Given the description of an element on the screen output the (x, y) to click on. 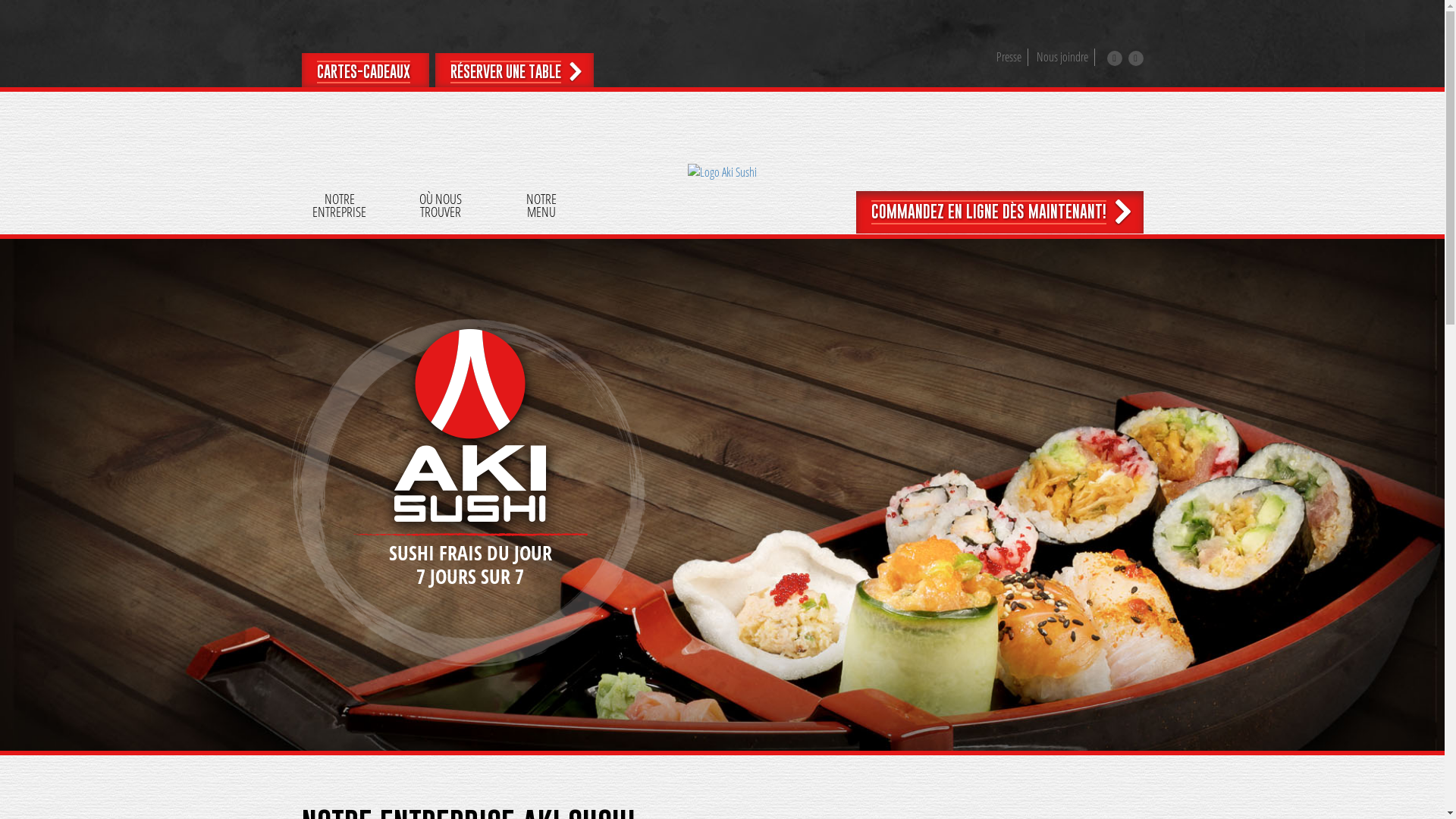
CARTES-CADEAUX Element type: text (365, 72)
APPLICATION AKIFAN Element type: text (1104, 208)
PRODUITS Element type: text (902, 208)
Presse Element type: text (1008, 56)
NOTRE ENTREPRISE Element type: text (338, 208)
Nous joindre Element type: text (1061, 56)
NOTRE
MENU Element type: text (540, 208)
